Given the description of an element on the screen output the (x, y) to click on. 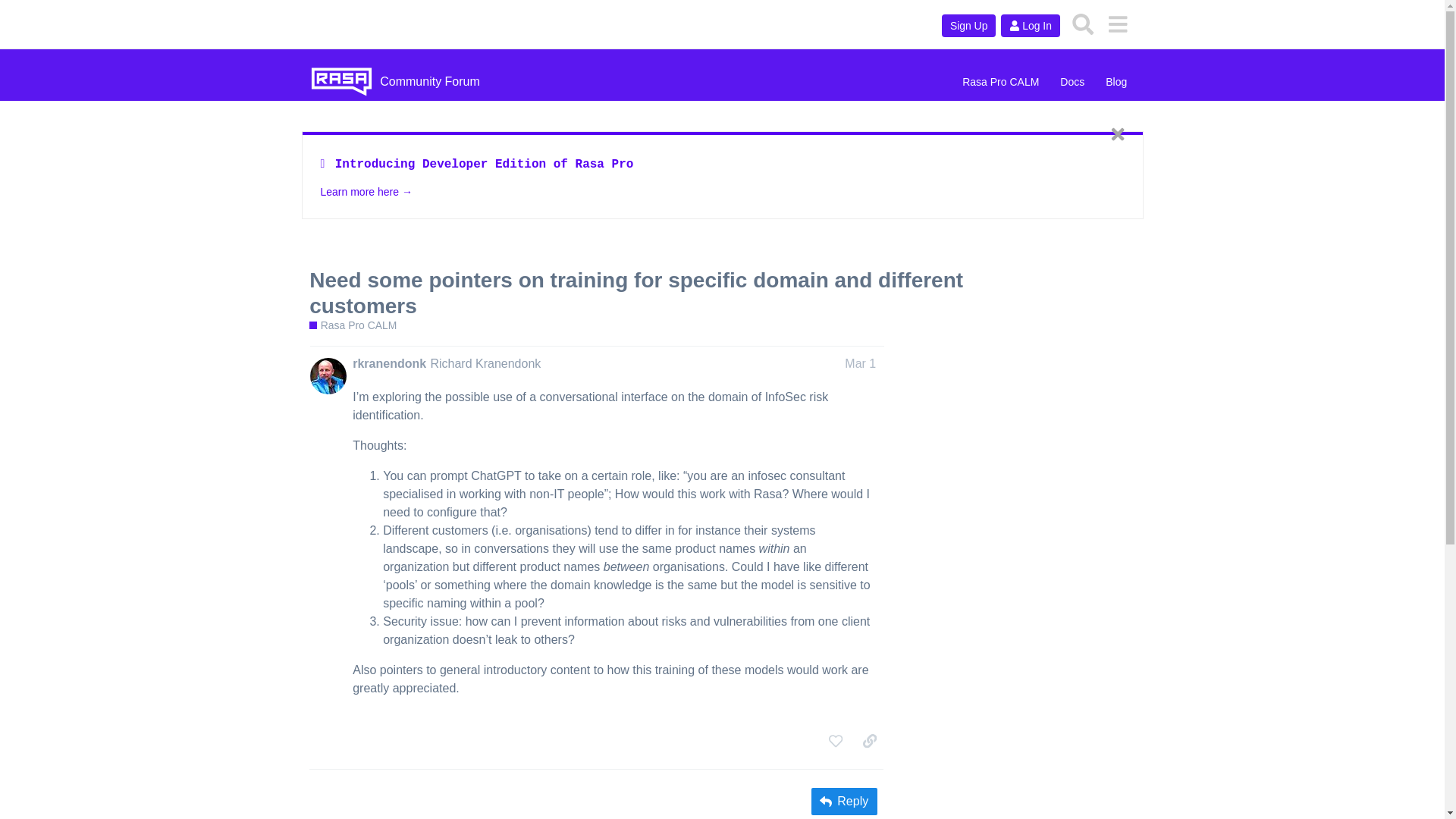
Reply (843, 800)
Mar 1 (860, 363)
like this post (835, 740)
menu (1117, 23)
Sign Up (968, 25)
Rasa Pro CALM (1000, 81)
Blog (1116, 81)
Search (1082, 23)
copy a link to this post to clipboard (869, 740)
rkranendonk (389, 363)
Log In (1030, 25)
Close the banner (1117, 133)
Post date (860, 363)
